Given the description of an element on the screen output the (x, y) to click on. 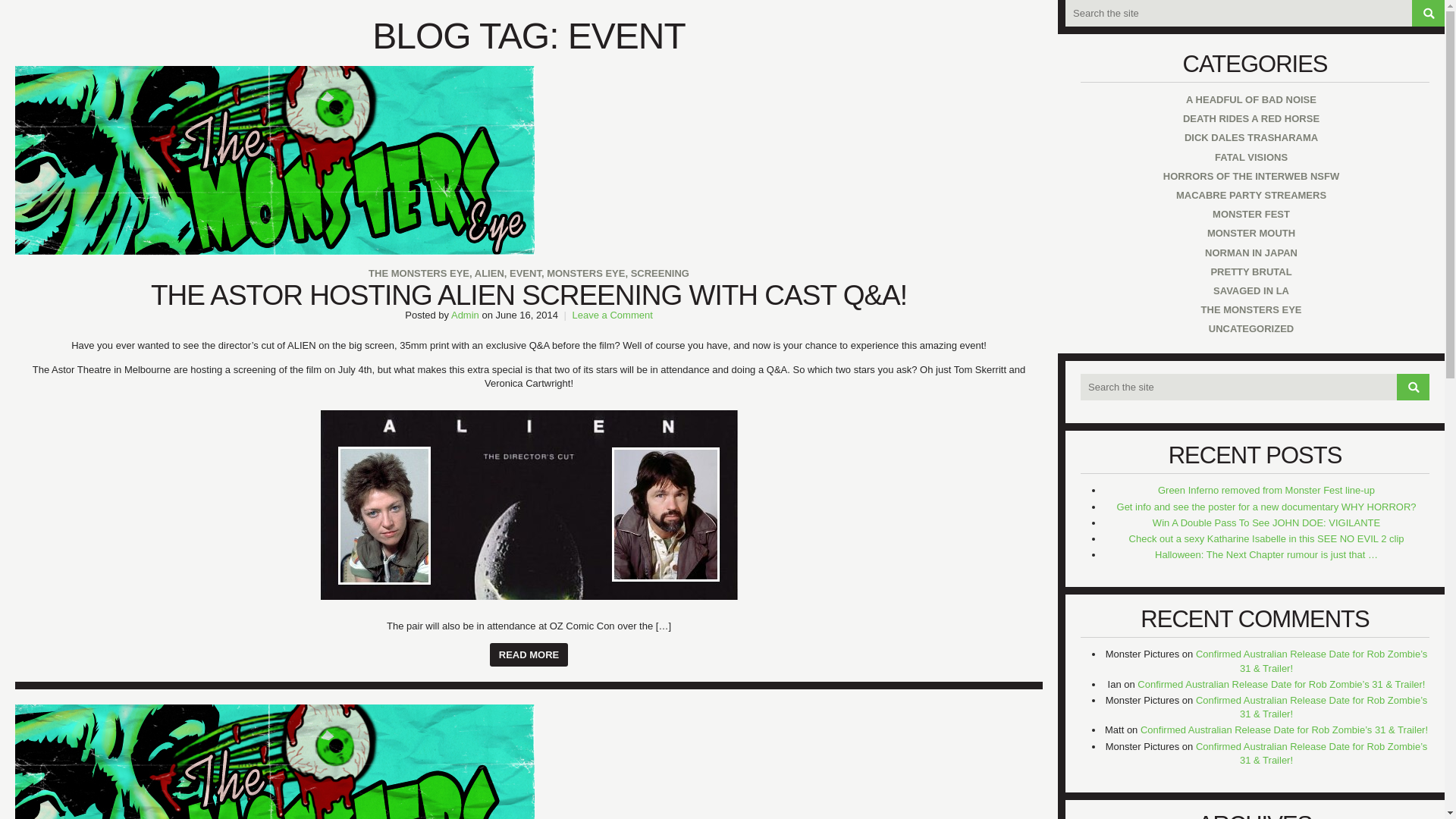
MONSTERS EYE (585, 273)
DEATH RIDES A RED HORSE (1247, 117)
Posts by Admin (465, 315)
Go (1412, 386)
ALIEN (488, 273)
THE MONSTERS EYE (1247, 309)
Go (1412, 386)
MONSTER MOUTH (1247, 232)
Search the site (1254, 386)
Green Inferno removed from Monster Fest line-up (1265, 490)
